Given the description of an element on the screen output the (x, y) to click on. 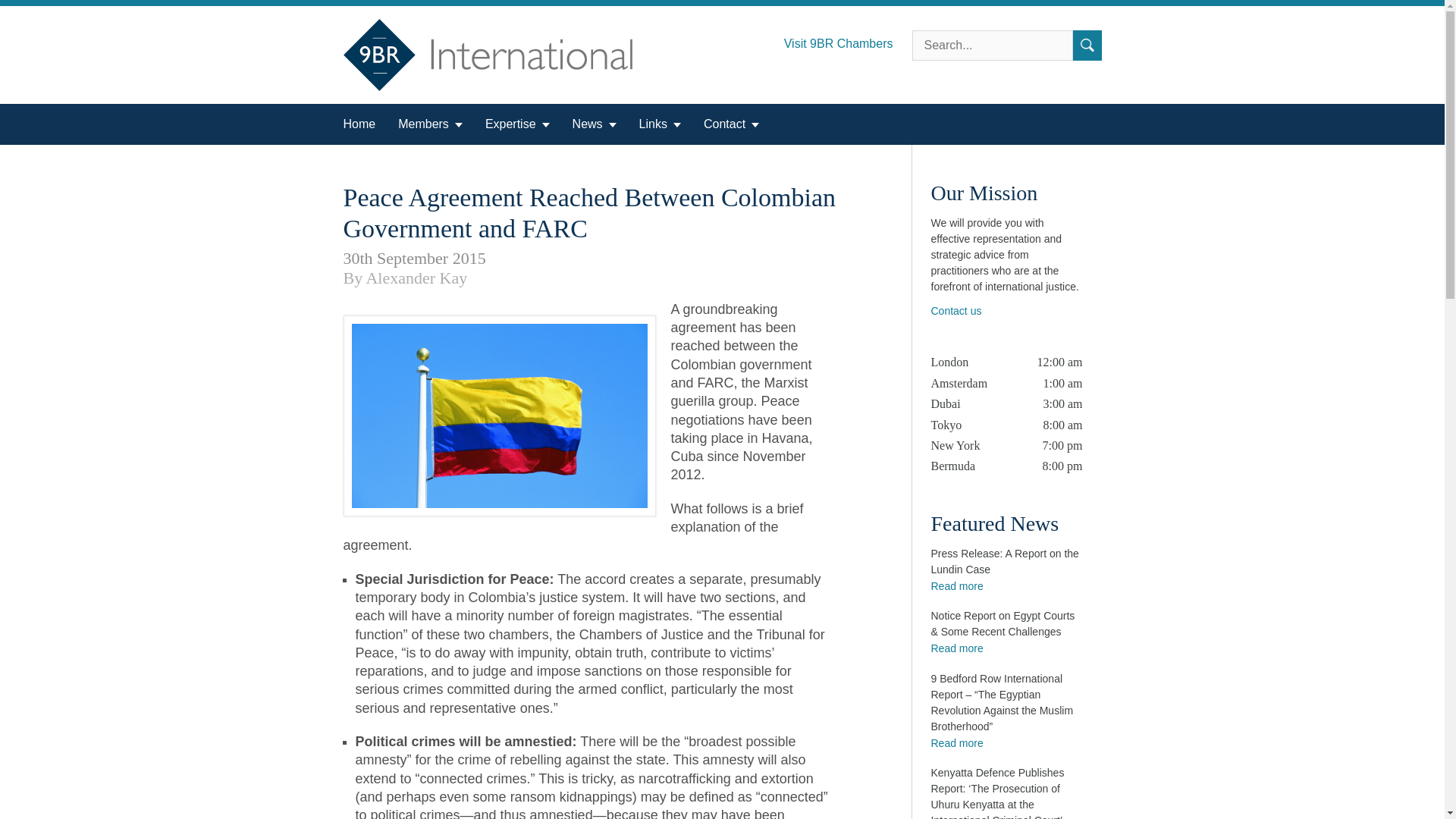
Expertise (517, 124)
Members (430, 124)
Posts by Alexander Kay (416, 277)
Visit 9BR Chambers (848, 39)
